Given the description of an element on the screen output the (x, y) to click on. 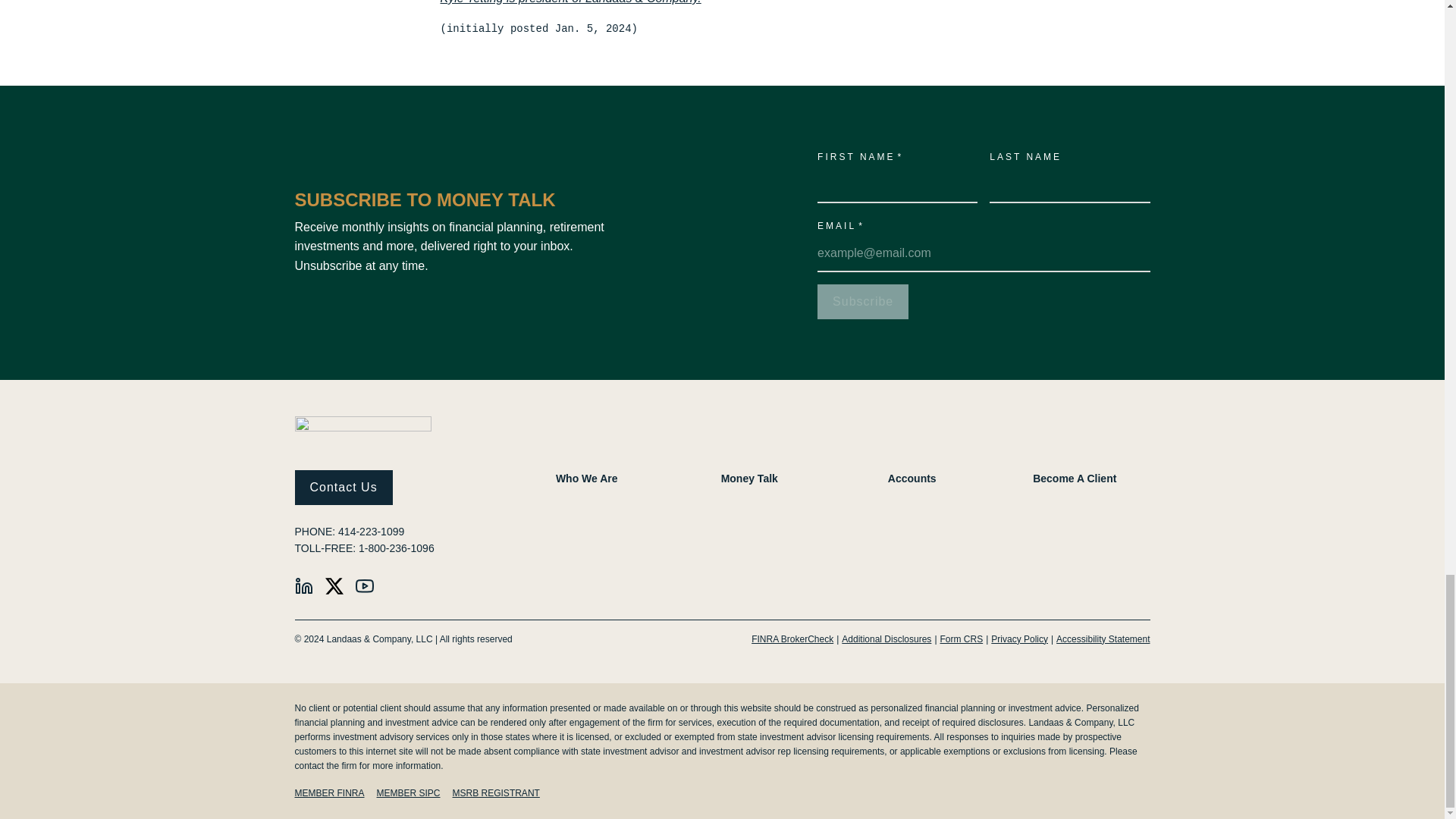
Money Talk (748, 478)
Become A Client (1074, 478)
Who We Are (586, 478)
1-800-236-1096 (395, 548)
Contact Us (342, 487)
Subscribe (862, 301)
Accounts (912, 478)
Subscribe (862, 301)
414-223-1099 (370, 531)
